Given the description of an element on the screen output the (x, y) to click on. 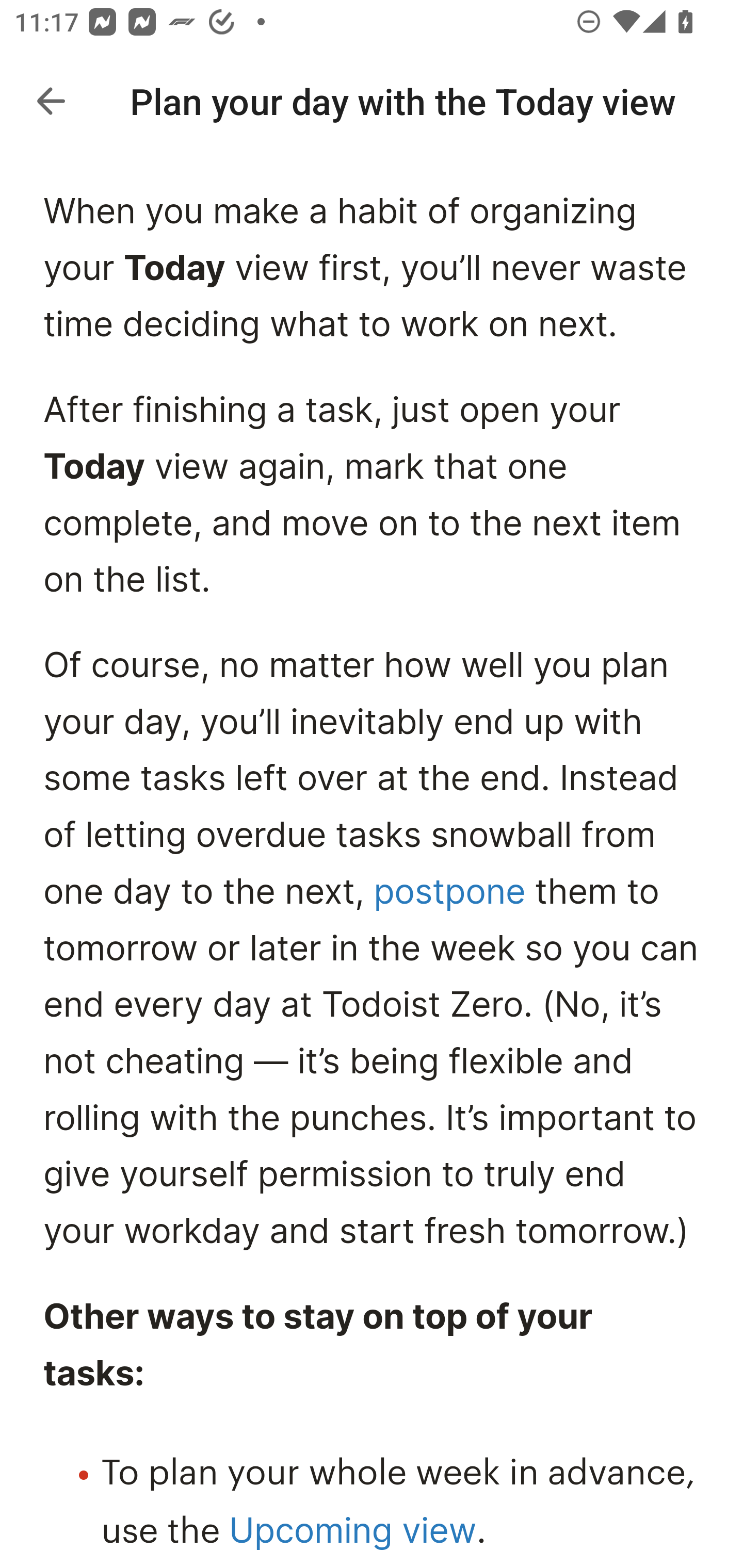
Navigate up (50, 101)
postpone (449, 893)
Upcoming view (352, 1531)
